Given the description of an element on the screen output the (x, y) to click on. 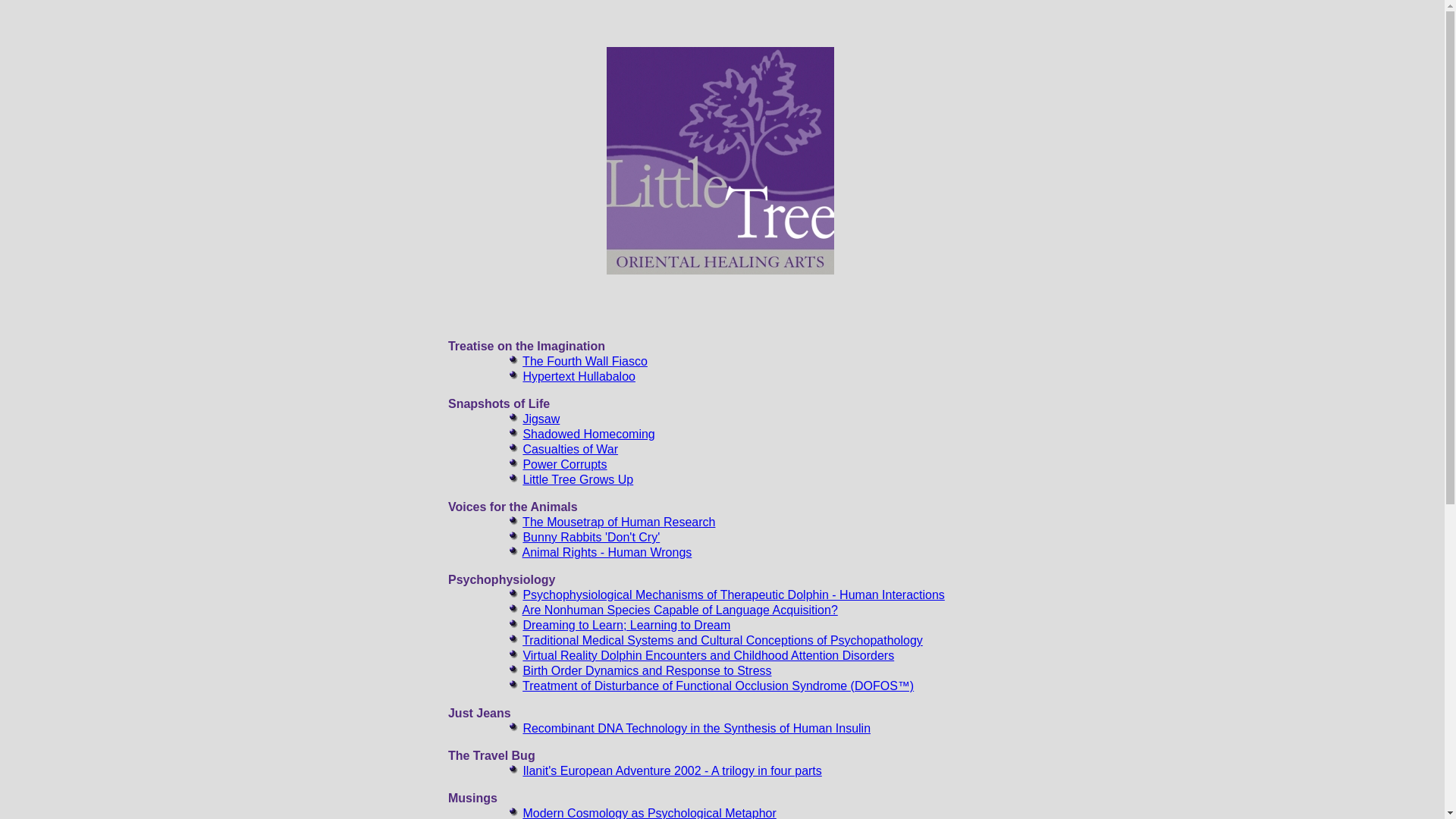
Animal Rights - Human Wrongs Element type: text (607, 552)
The Fourth Wall Fiasco Element type: text (584, 360)
Recombinant DNA Technology in the Synthesis of Human Insulin Element type: text (696, 727)
Ilanit's European Adventure 2002 - A trilogy in four parts Element type: text (671, 770)
Jigsaw Element type: text (540, 418)
Are Nonhuman Species Capable of Language Acquisition? Element type: text (679, 609)
Power Corrupts Element type: text (564, 464)
The Mousetrap of Human Research Element type: text (618, 521)
Bunny Rabbits 'Don't Cry' Element type: text (590, 536)
Dreaming to Learn; Learning to Dream Element type: text (626, 624)
Birth Order Dynamics and Response to Stress Element type: text (646, 670)
Little Tree Grows Up Element type: text (577, 479)
Hypertext Hullabaloo Element type: text (578, 376)
Shadowed Homecoming Element type: text (588, 433)
Casualties of War Element type: text (570, 448)
